Given the description of an element on the screen output the (x, y) to click on. 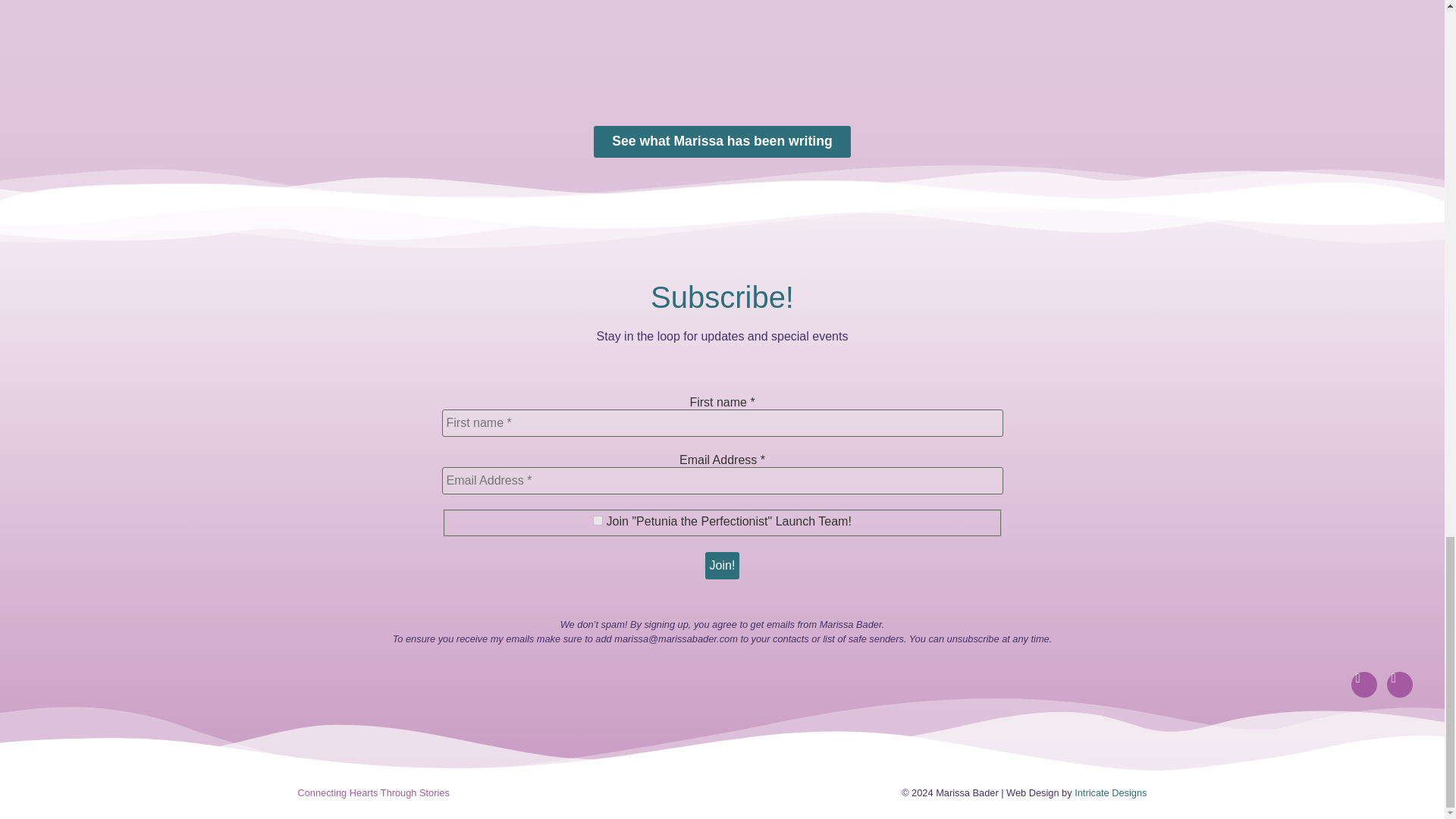
See what Marissa has been writing (722, 142)
Join! (721, 565)
First name (722, 422)
Email Address (722, 480)
Join! (721, 565)
Intricate Designs (1110, 792)
1 (597, 520)
